Given the description of an element on the screen output the (x, y) to click on. 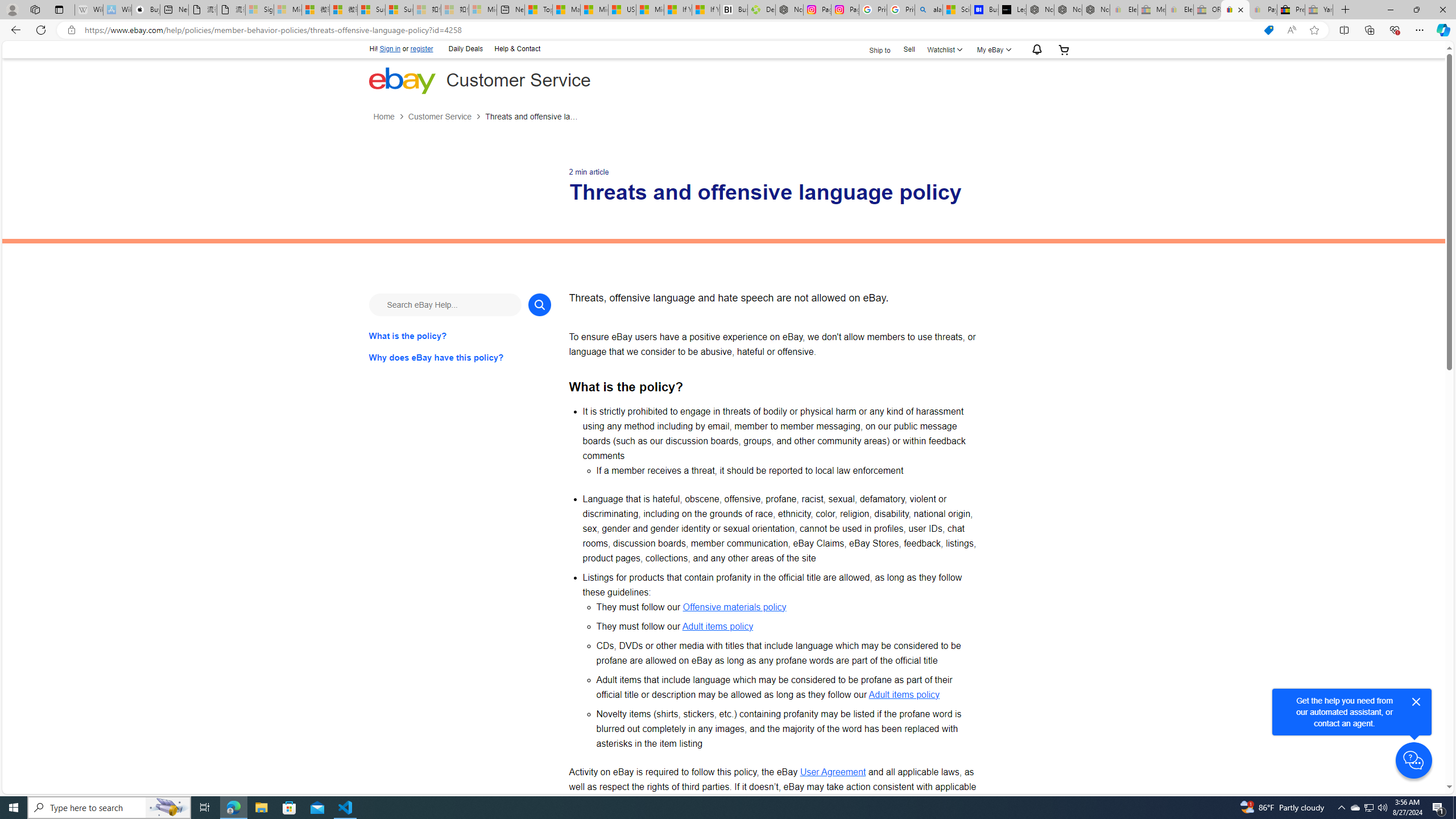
What is the policy? (459, 335)
They must follow our Adult items policy (787, 626)
Ship to (872, 50)
